Given the description of an element on the screen output the (x, y) to click on. 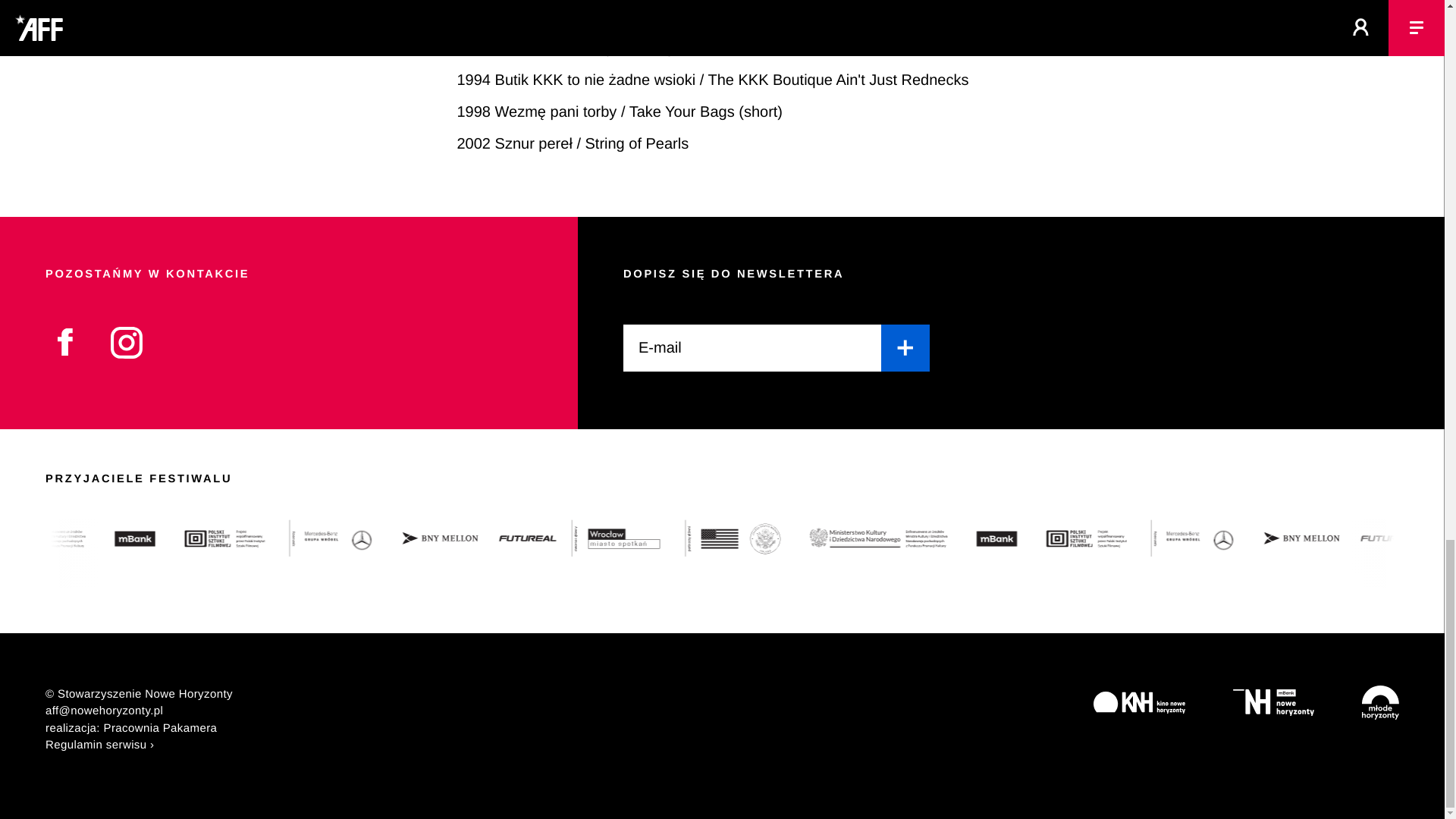
Pracownia Pakamera (159, 727)
